Given the description of an element on the screen output the (x, y) to click on. 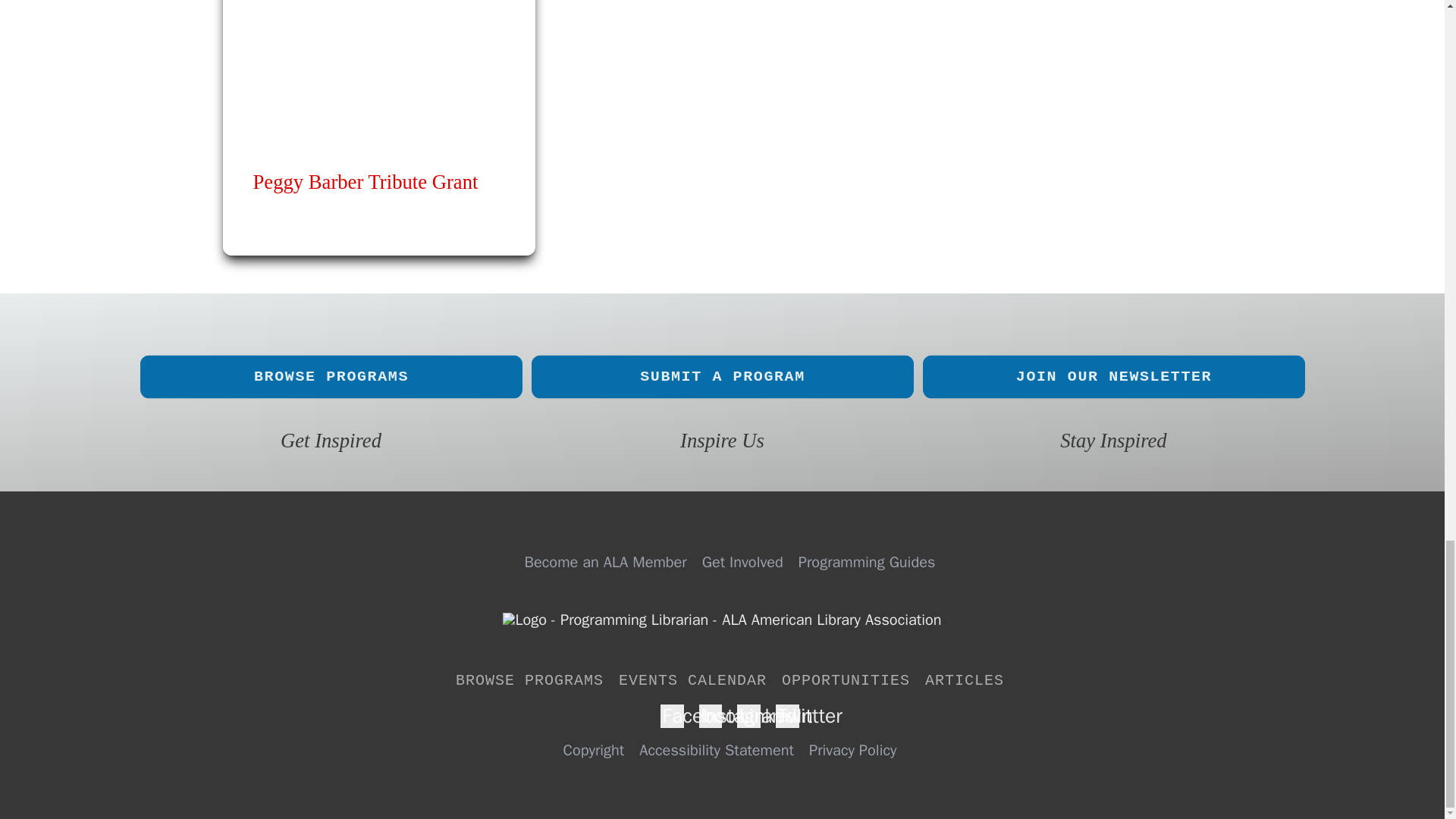
Get Involved (742, 562)
Facebook (672, 716)
Programming Guides (866, 562)
Instagram (710, 716)
Twitter (787, 716)
BROWSE PROGRAMS (529, 680)
EVENTS CALENDAR (692, 680)
Become an ALA Member (605, 562)
OPPORTUNITIES (845, 680)
LinkedIn (748, 716)
